Given the description of an element on the screen output the (x, y) to click on. 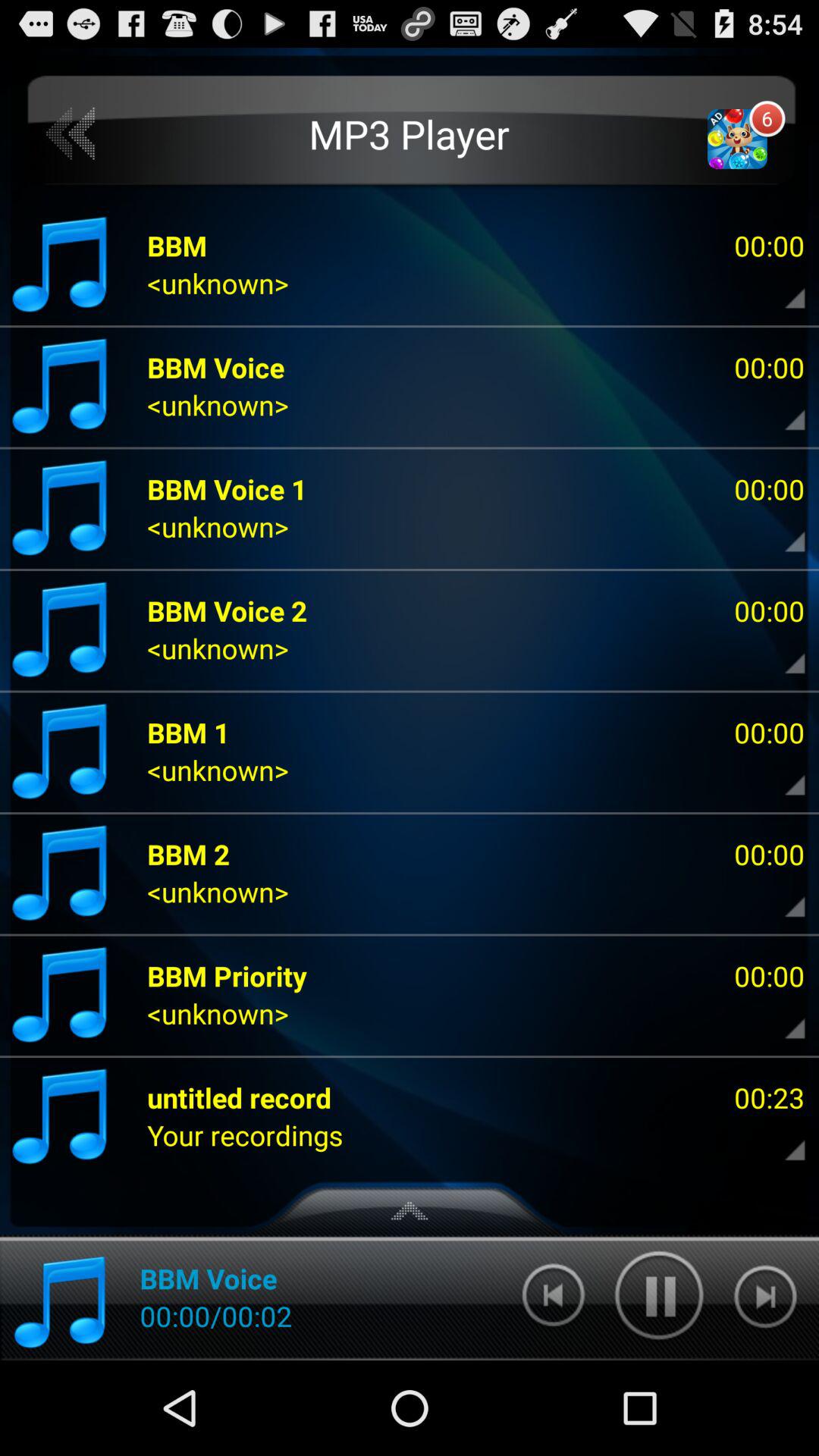
show details (782, 1135)
